Given the description of an element on the screen output the (x, y) to click on. 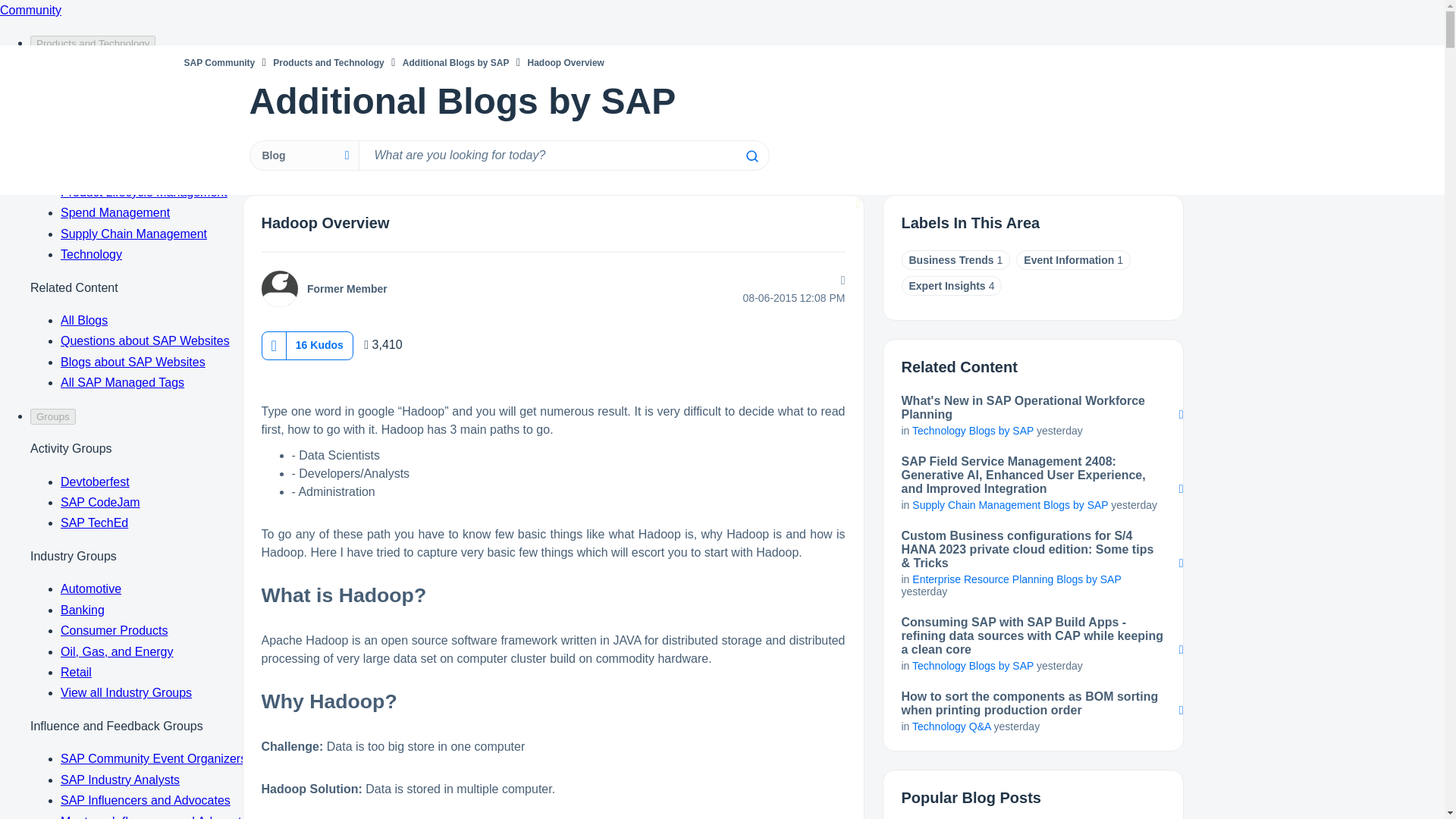
Posted on (747, 297)
Search (750, 155)
16 Kudos (319, 344)
Hadoop Overview (324, 222)
Products and Technology (328, 62)
Search (563, 155)
SAP Community (218, 62)
Search (750, 155)
Additional Blogs by SAP (456, 62)
Search (750, 155)
